Given the description of an element on the screen output the (x, y) to click on. 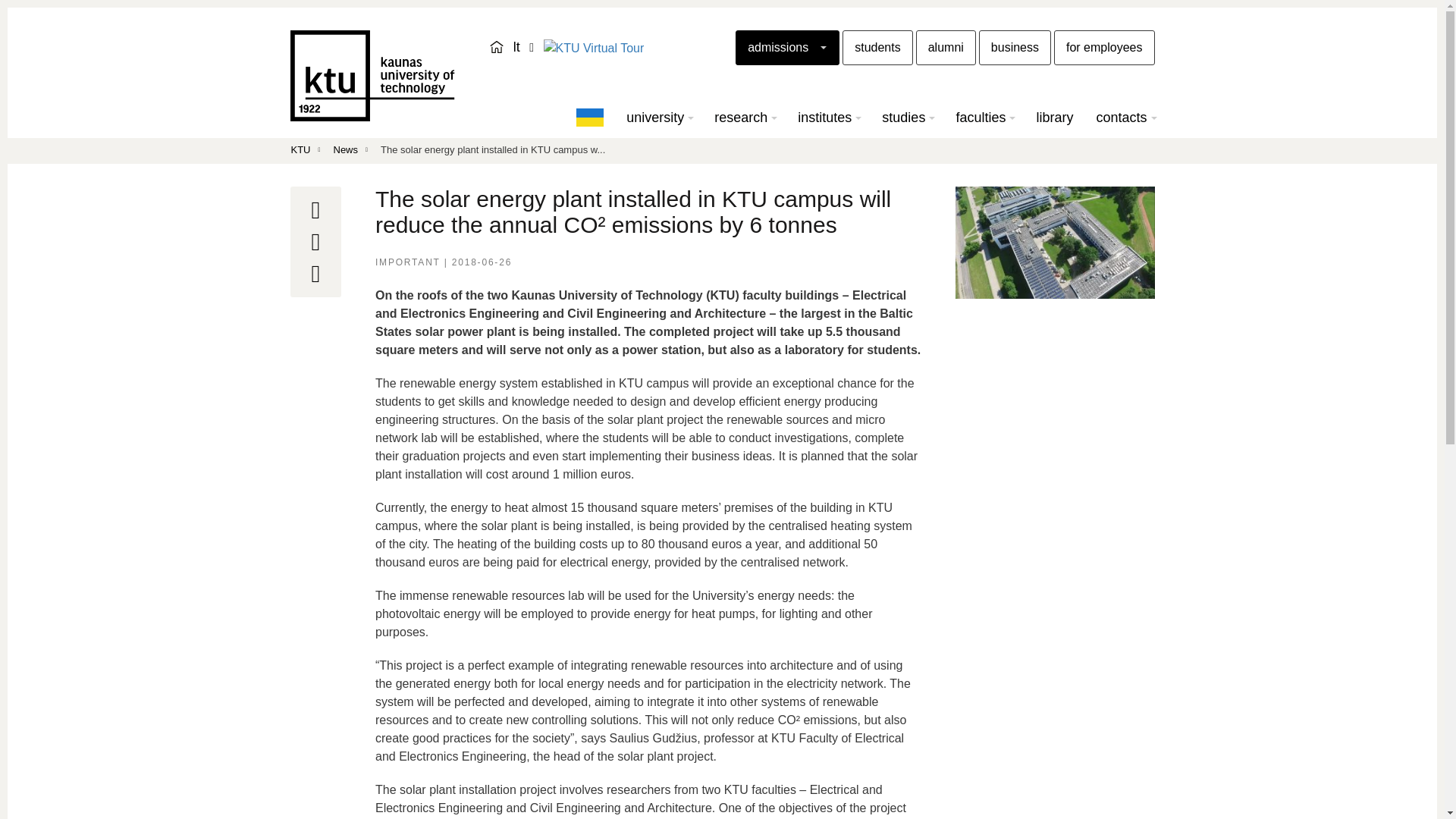
business (1014, 47)
alumni (945, 47)
admissions (787, 47)
KTU Virtual Tour (593, 48)
university (658, 117)
for employees (1104, 47)
students (877, 47)
Kaunas University of Technology (371, 75)
admissions (787, 47)
students (877, 47)
